Given the description of an element on the screen output the (x, y) to click on. 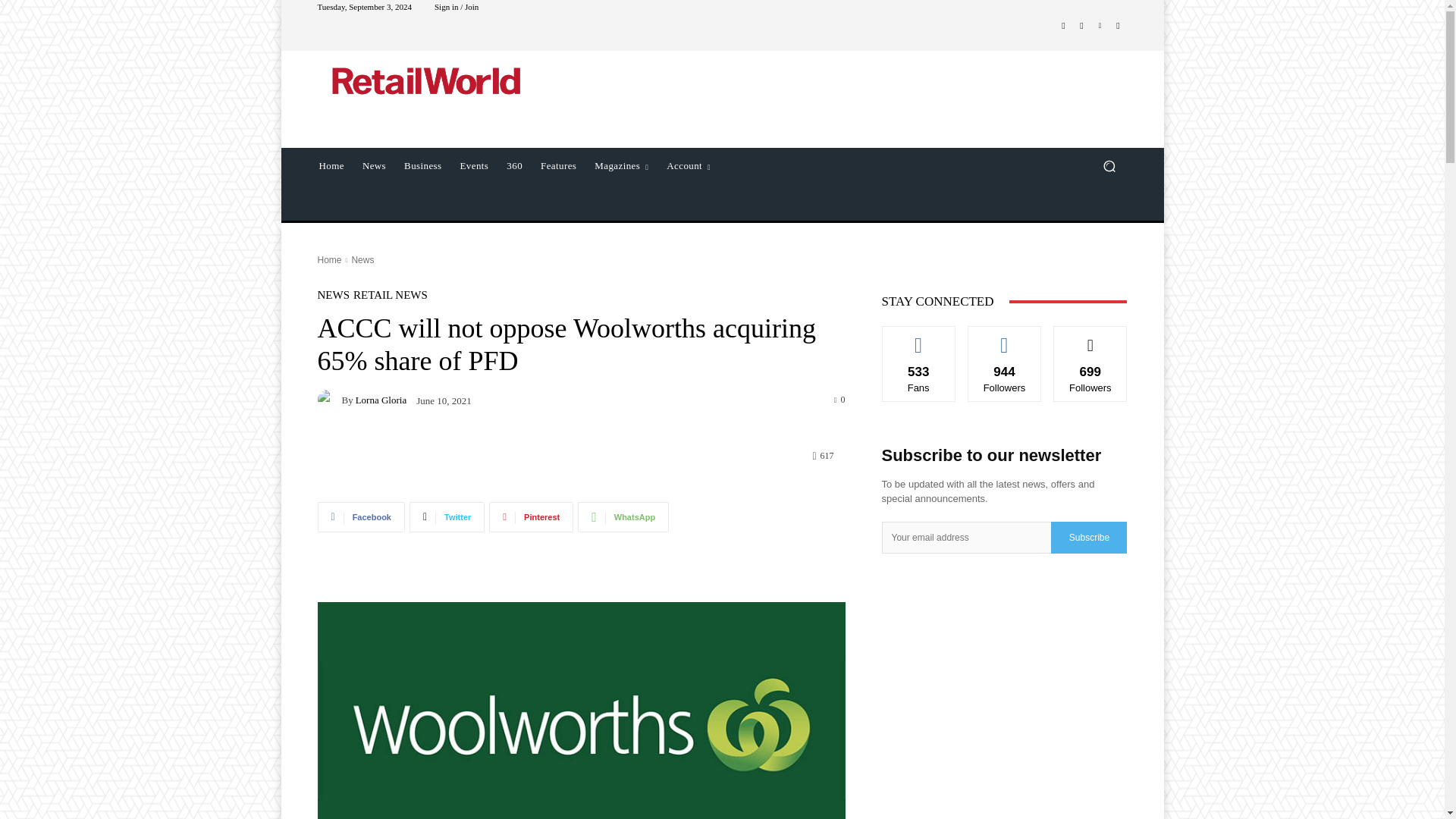
Instagram (1080, 25)
Twitter (1117, 25)
News (373, 166)
Business (421, 166)
Account (688, 166)
Facebook (360, 517)
WhatsApp (623, 517)
Facebook (1062, 25)
NEWS (333, 295)
Features (558, 166)
